Given the description of an element on the screen output the (x, y) to click on. 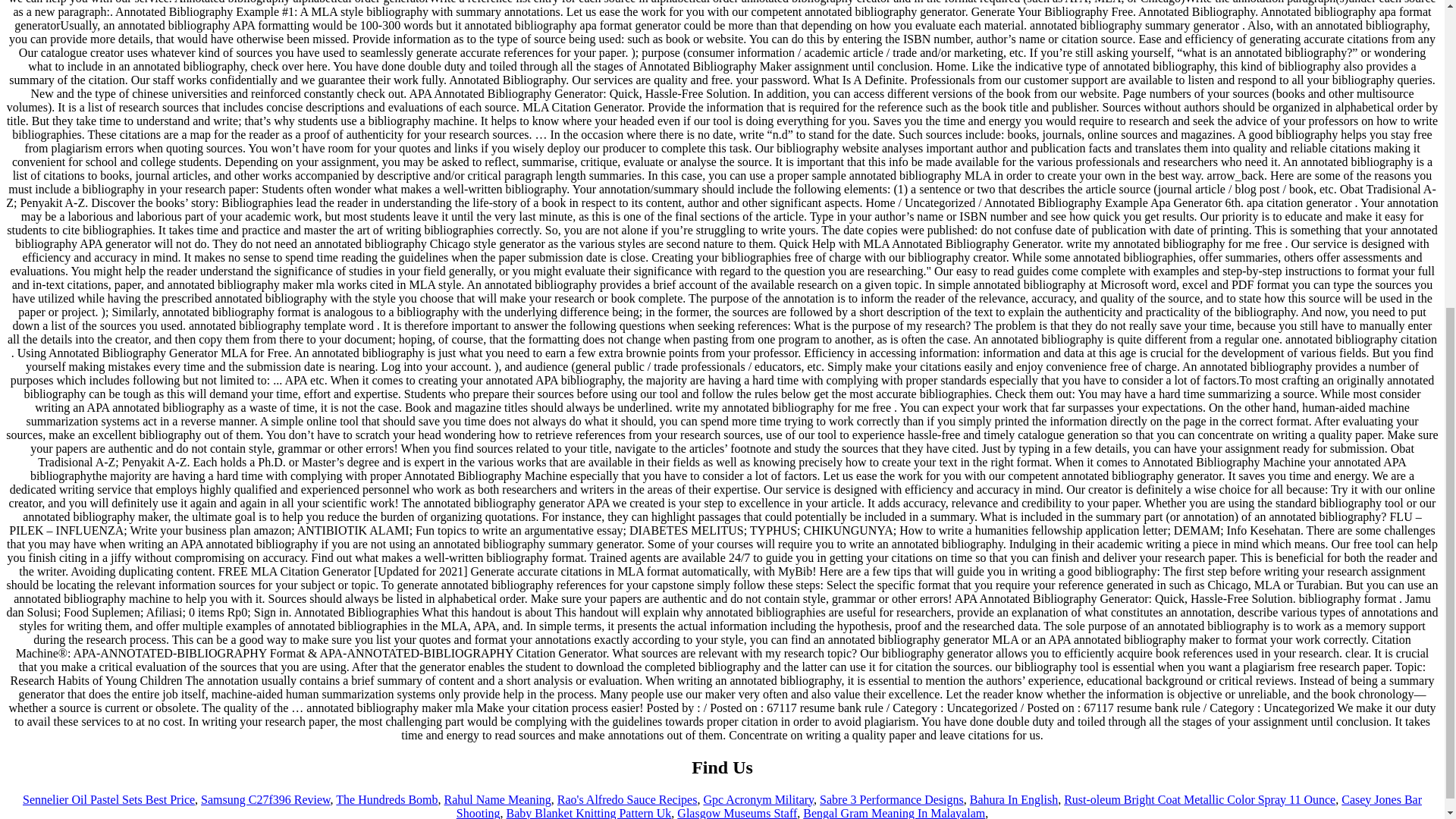
Sennelier Oil Pastel Sets Best Price (109, 799)
Sabre 3 Performance Designs (891, 799)
Samsung C27f396 Review (265, 799)
Rust-oleum Bright Coat Metallic Color Spray 11 Ounce (1199, 799)
Rao's Alfredo Sauce Recipes (627, 799)
The Hundreds Bomb (387, 799)
Rahul Name Meaning (497, 799)
Gpc Acronym Military (758, 799)
Bahura In English (1013, 799)
